Given the description of an element on the screen output the (x, y) to click on. 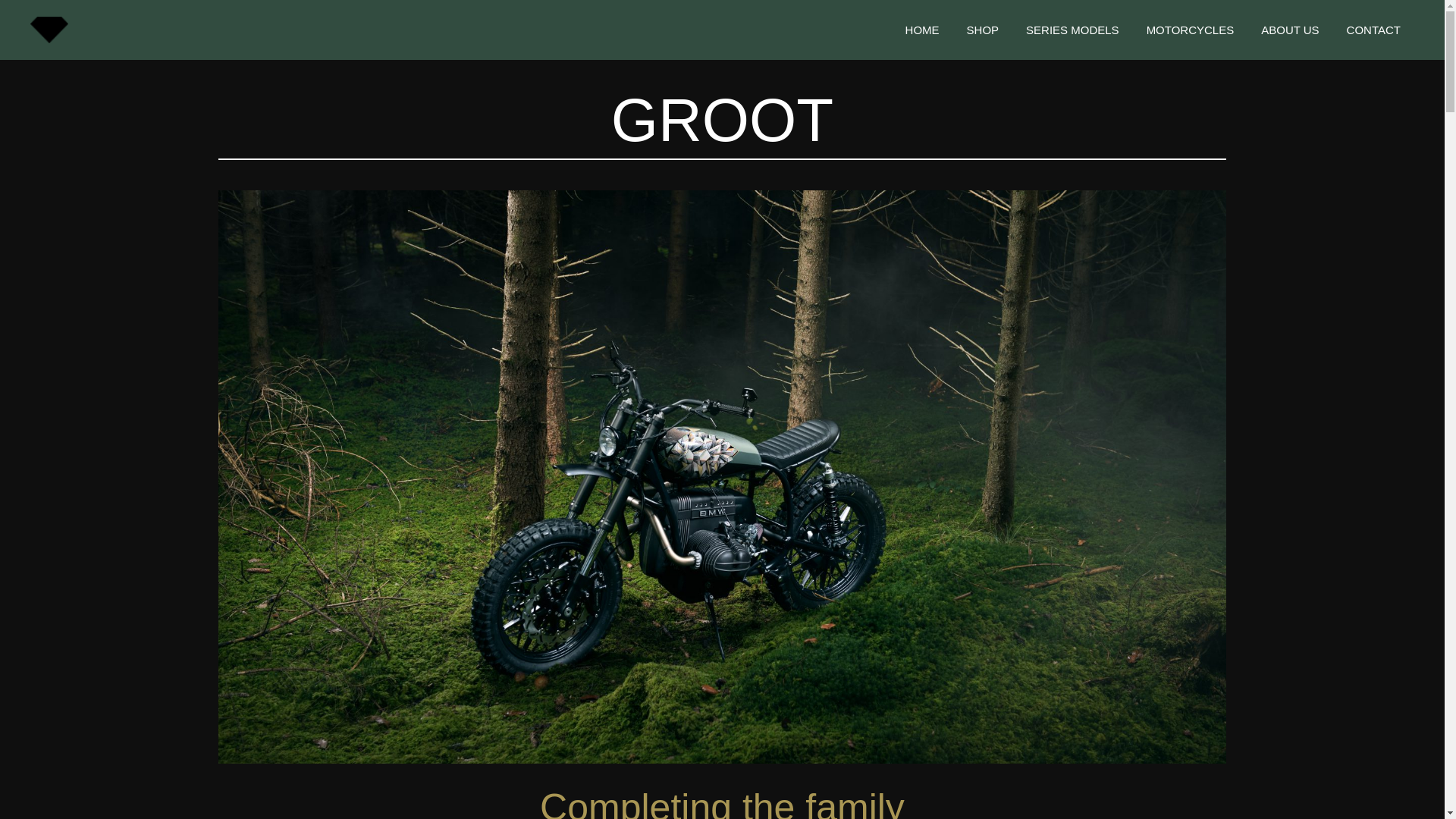
CONTACT (1373, 29)
ABOUT US (1289, 29)
MOTORCYCLES (1189, 29)
HOME (922, 29)
SHOP (983, 29)
